Given the description of an element on the screen output the (x, y) to click on. 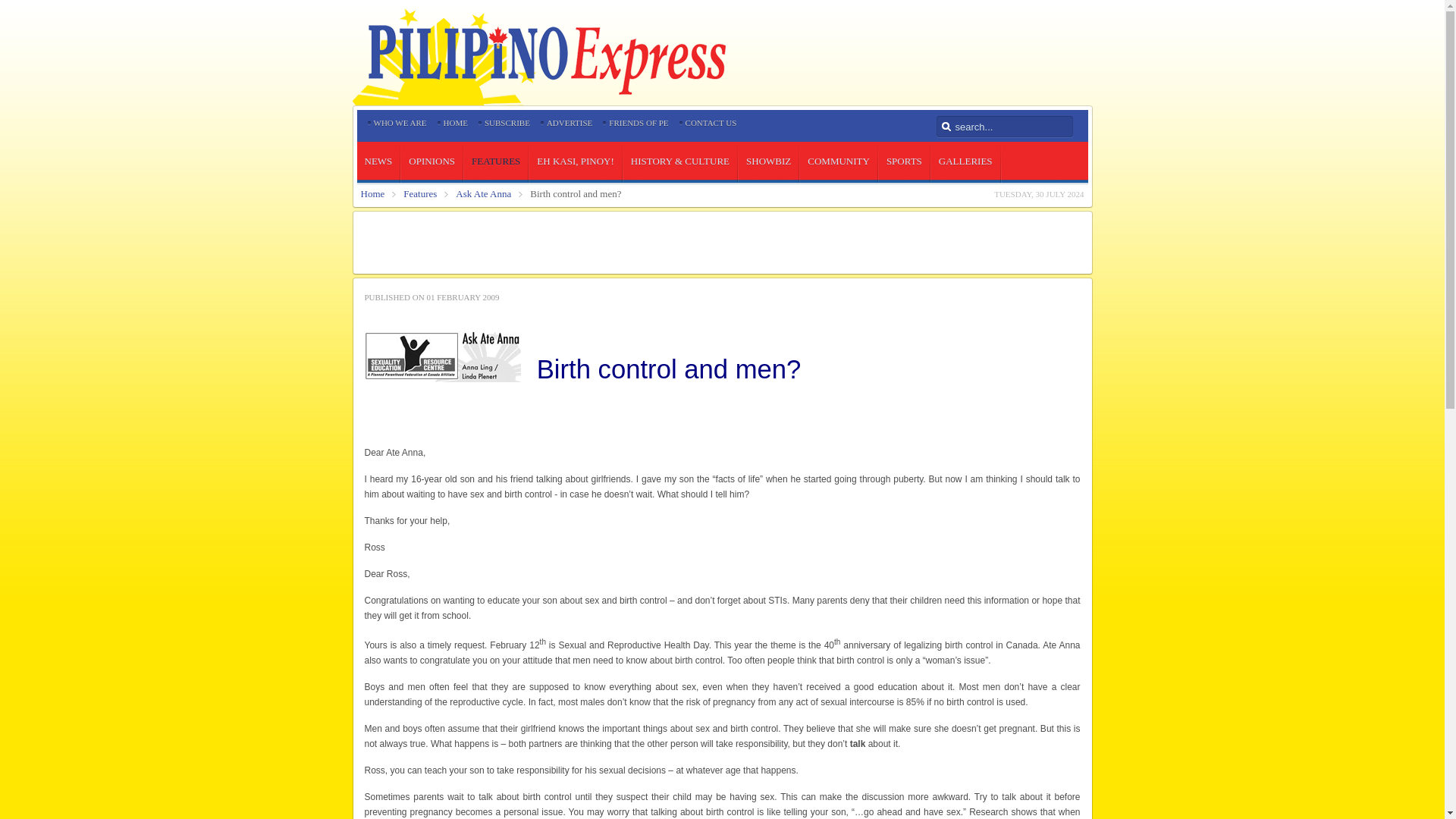
NEWS (377, 160)
HOME (455, 122)
CONTACT US (710, 122)
ADVERTISE (569, 122)
SUBSCRIBE (506, 122)
OPINIONS (432, 160)
Reset (3, 2)
FRIENDS OF PE (638, 122)
EH KASI, PINOY! (575, 160)
FEATURES (495, 160)
WHO WE ARE (399, 122)
